Given the description of an element on the screen output the (x, y) to click on. 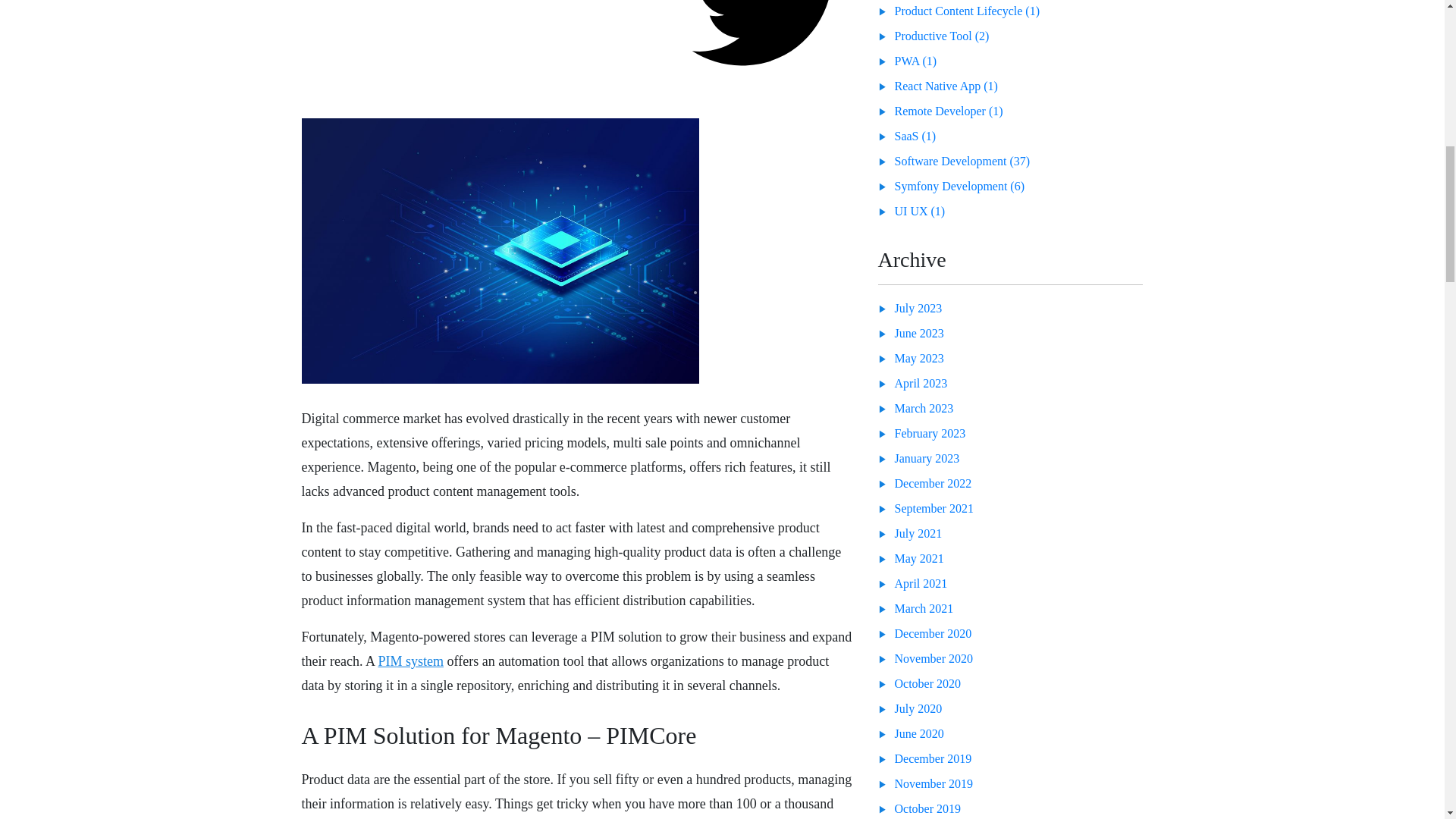
PIM system (410, 661)
